Given the description of an element on the screen output the (x, y) to click on. 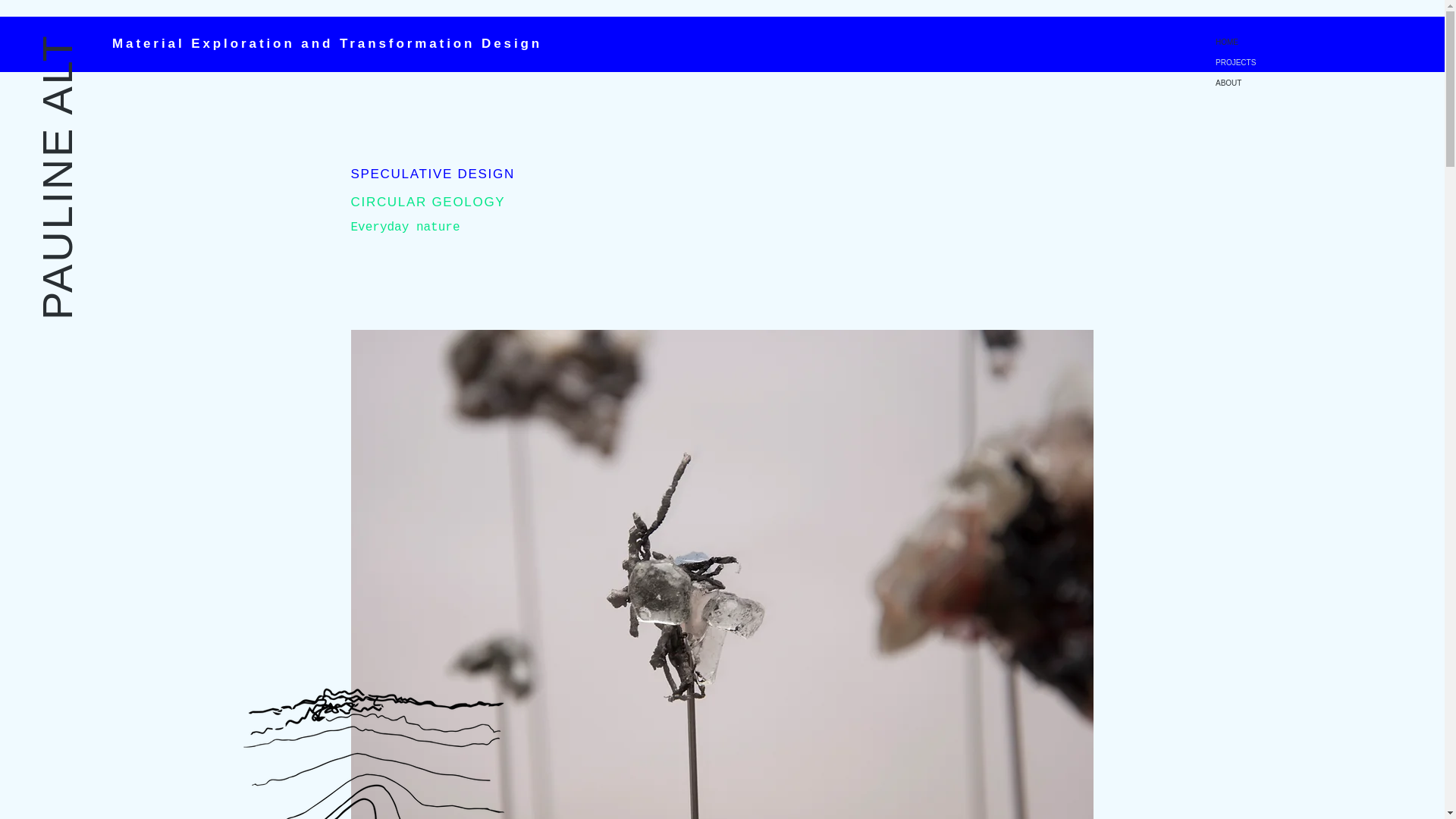
HOME (1328, 41)
PAULINE ALT (175, 57)
ABOUT (1328, 82)
PROJECTS (1328, 62)
